Given the description of an element on the screen output the (x, y) to click on. 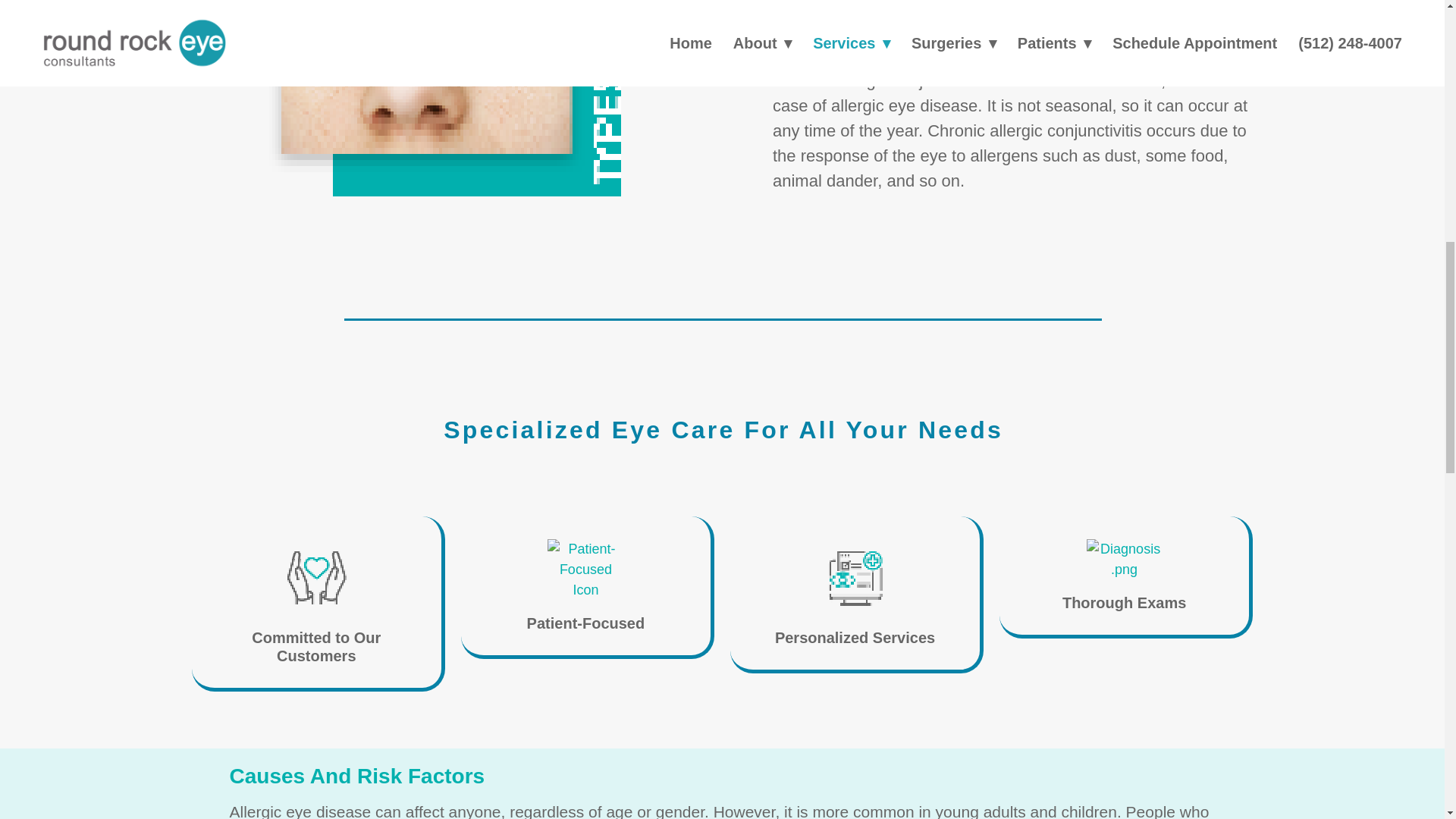
Photo of a woman with red eyes (445, 111)
Patient-Focused Icon (585, 569)
Range of Treatments Offered Icon (854, 576)
